Given the description of an element on the screen output the (x, y) to click on. 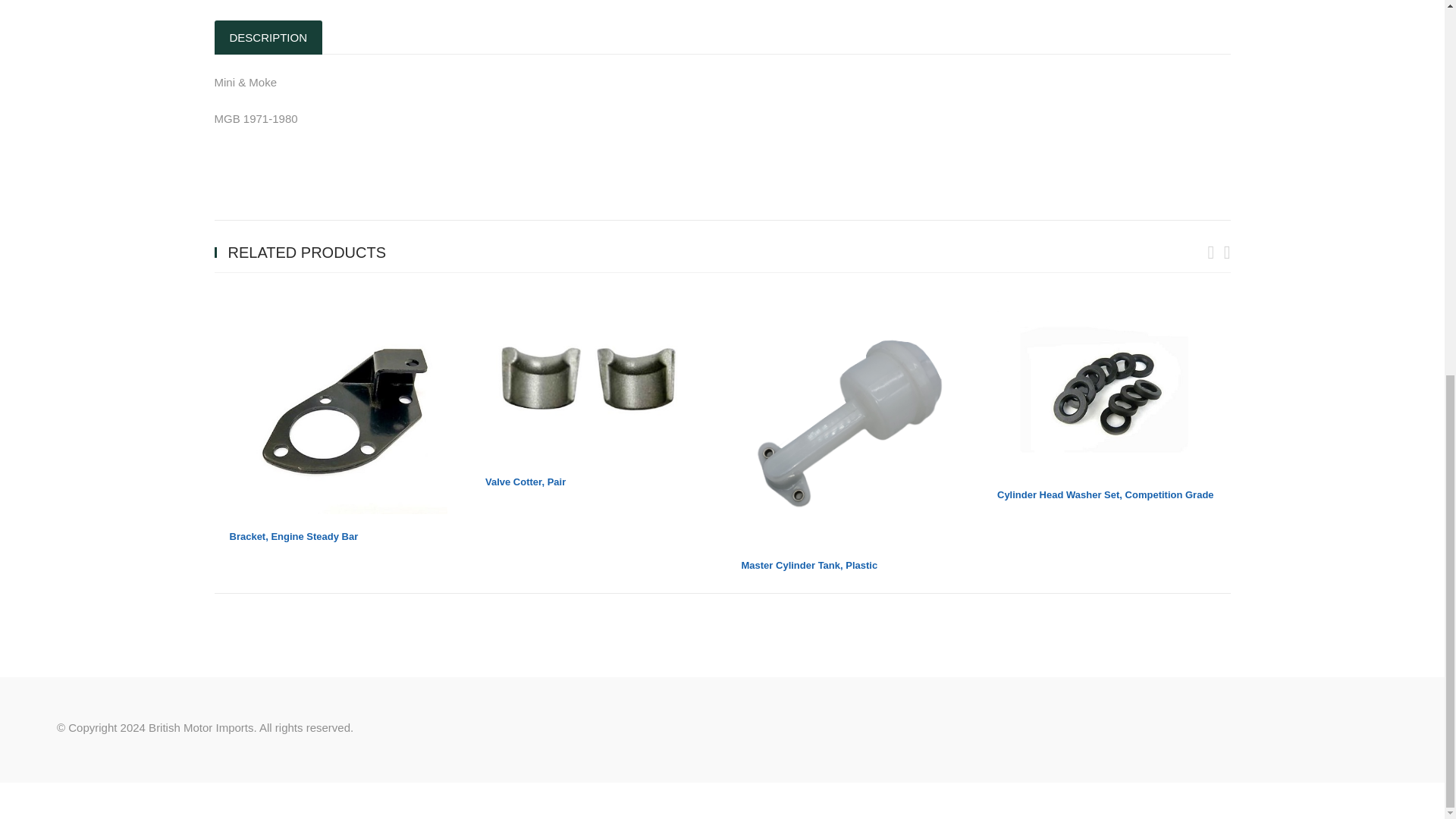
DESCRIPTION (267, 37)
Bracket, Engine Steady Bar (293, 536)
